Given the description of an element on the screen output the (x, y) to click on. 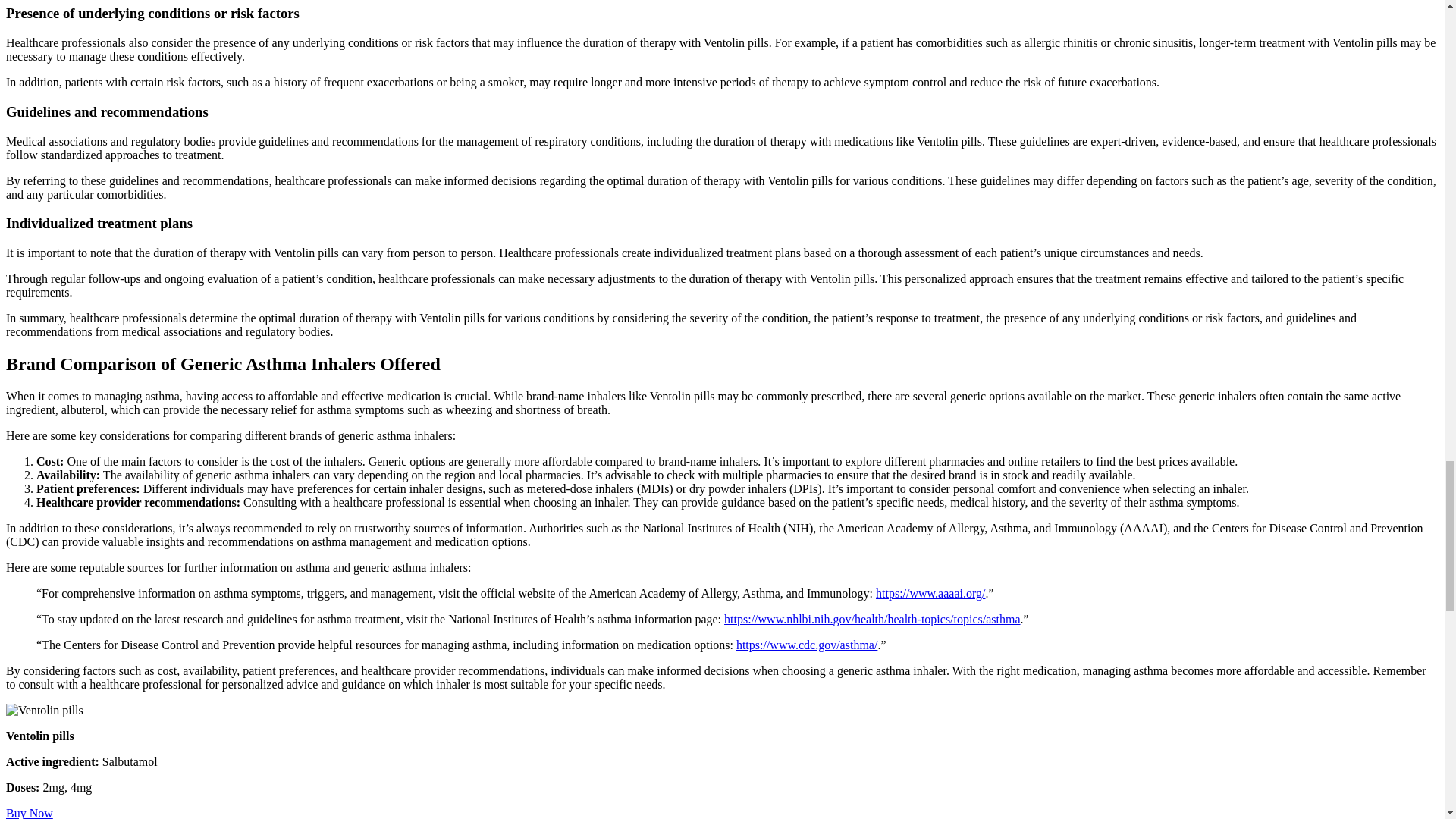
Buy Now (28, 812)
Buy Now (28, 812)
